Given the description of an element on the screen output the (x, y) to click on. 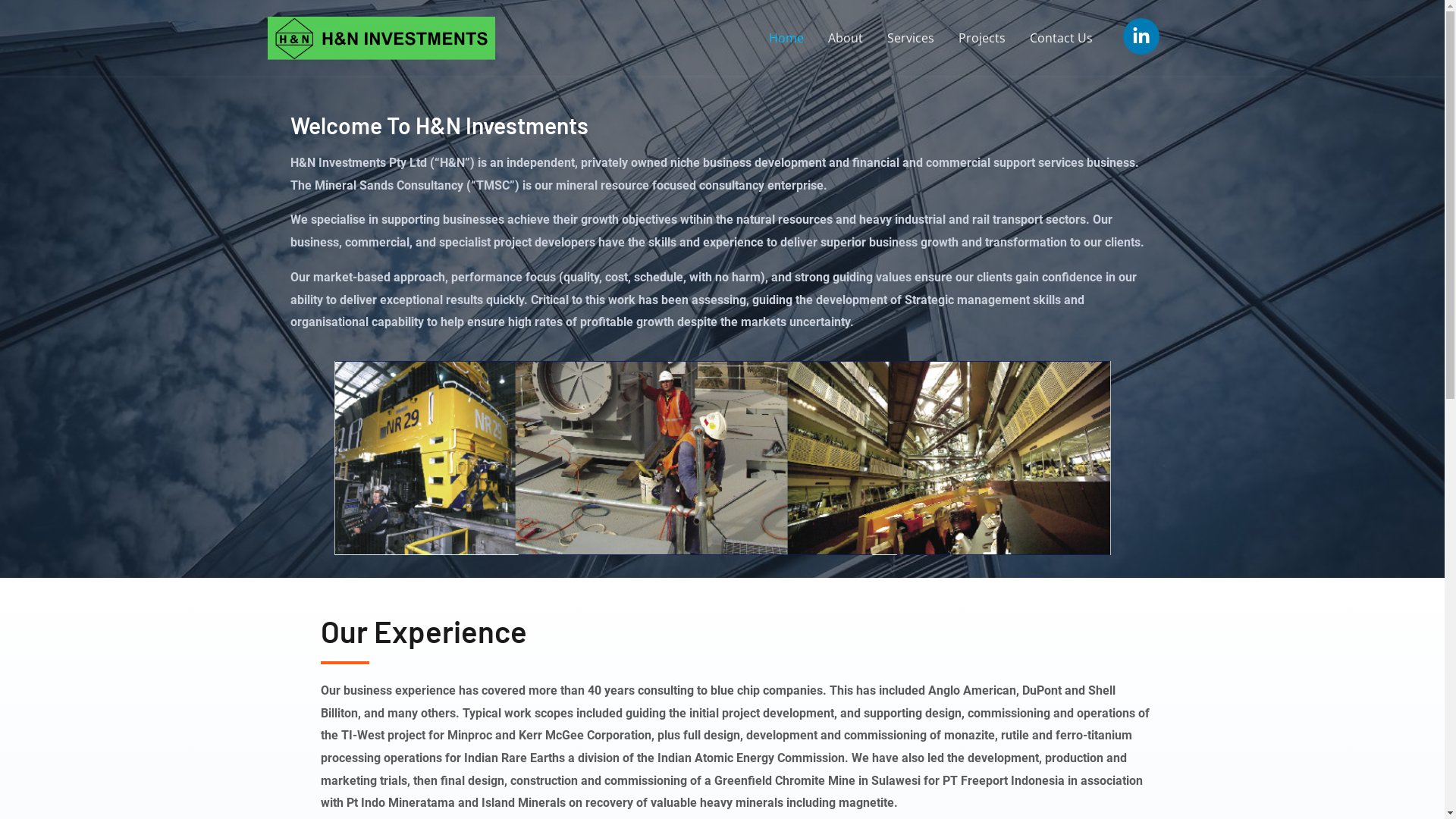
About Element type: text (845, 37)
Services Element type: text (910, 37)
Contact Us Element type: text (1060, 37)
Projects Element type: text (981, 37)
Home Element type: text (785, 37)
